Given the description of an element on the screen output the (x, y) to click on. 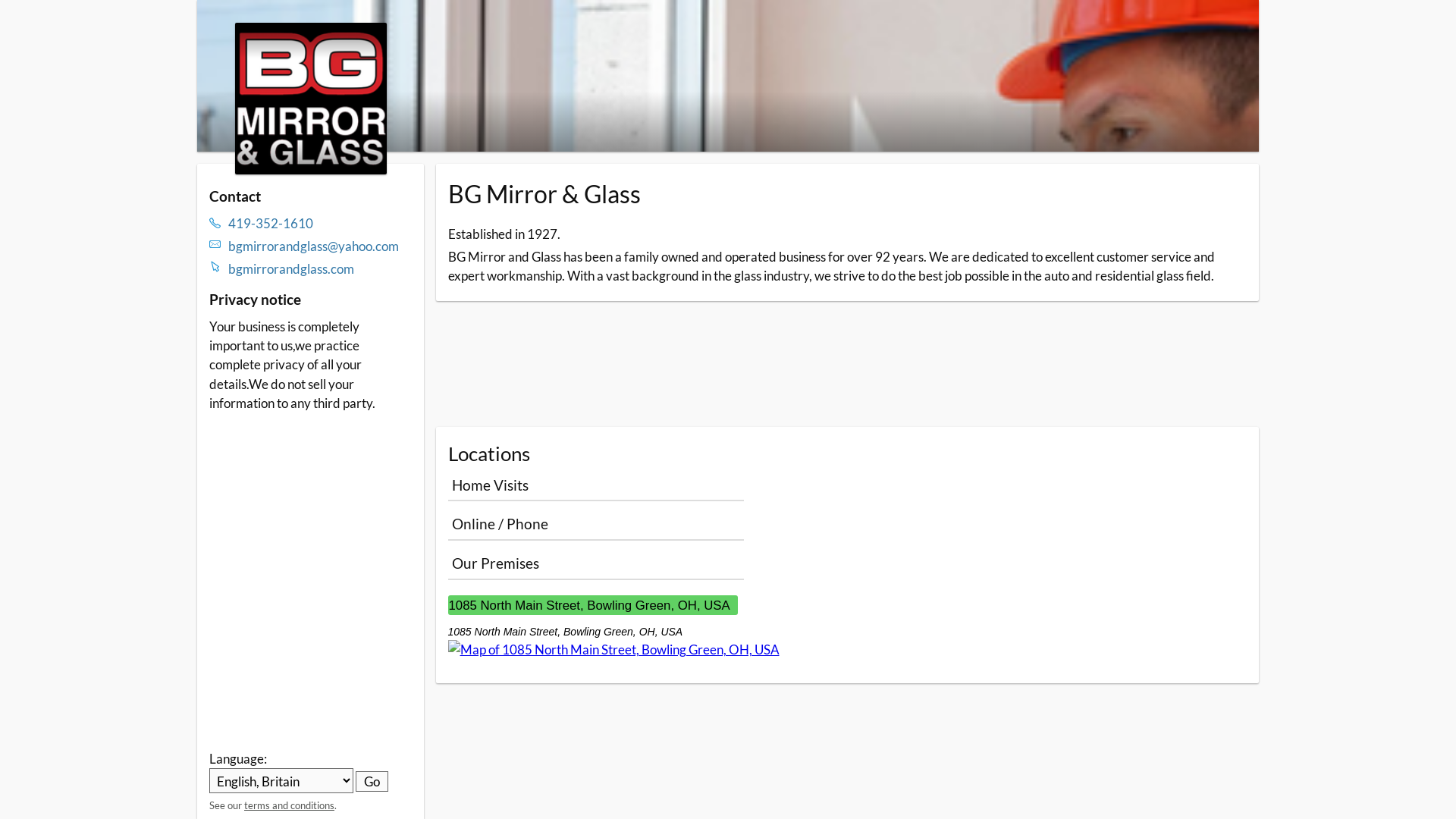
bgmirrorandglass.com Element type: text (319, 268)
1085 North Main Street, Bowling Green, OH, USA Element type: text (592, 605)
terms and conditions Element type: text (289, 805)
419-352-1610 Element type: text (319, 222)
bgmirrorandglass@yahoo.com Element type: text (319, 245)
Skip to booking section Element type: text (286, 23)
Booking widget Element type: hover (846, 363)
Go Element type: text (371, 781)
